Given the description of an element on the screen output the (x, y) to click on. 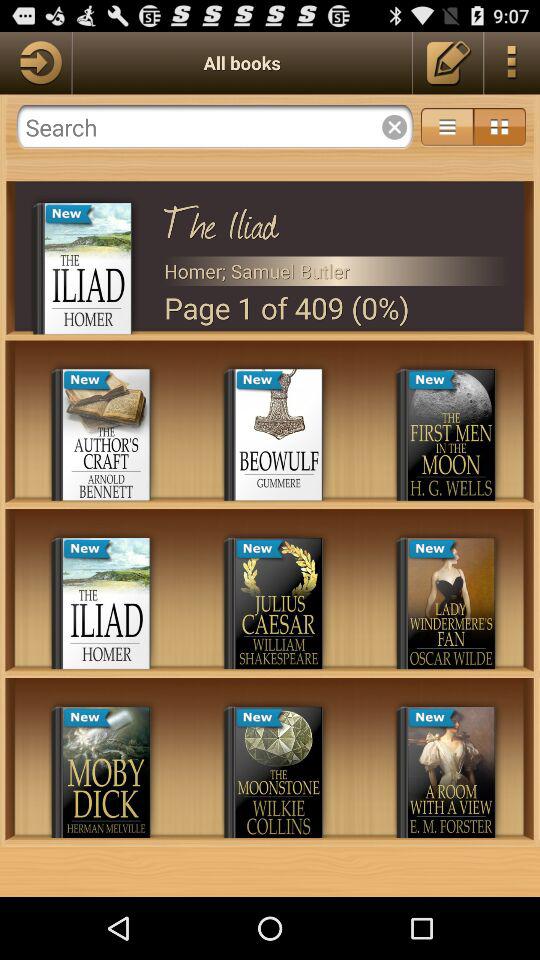
clear search field button (394, 127)
